Given the description of an element on the screen output the (x, y) to click on. 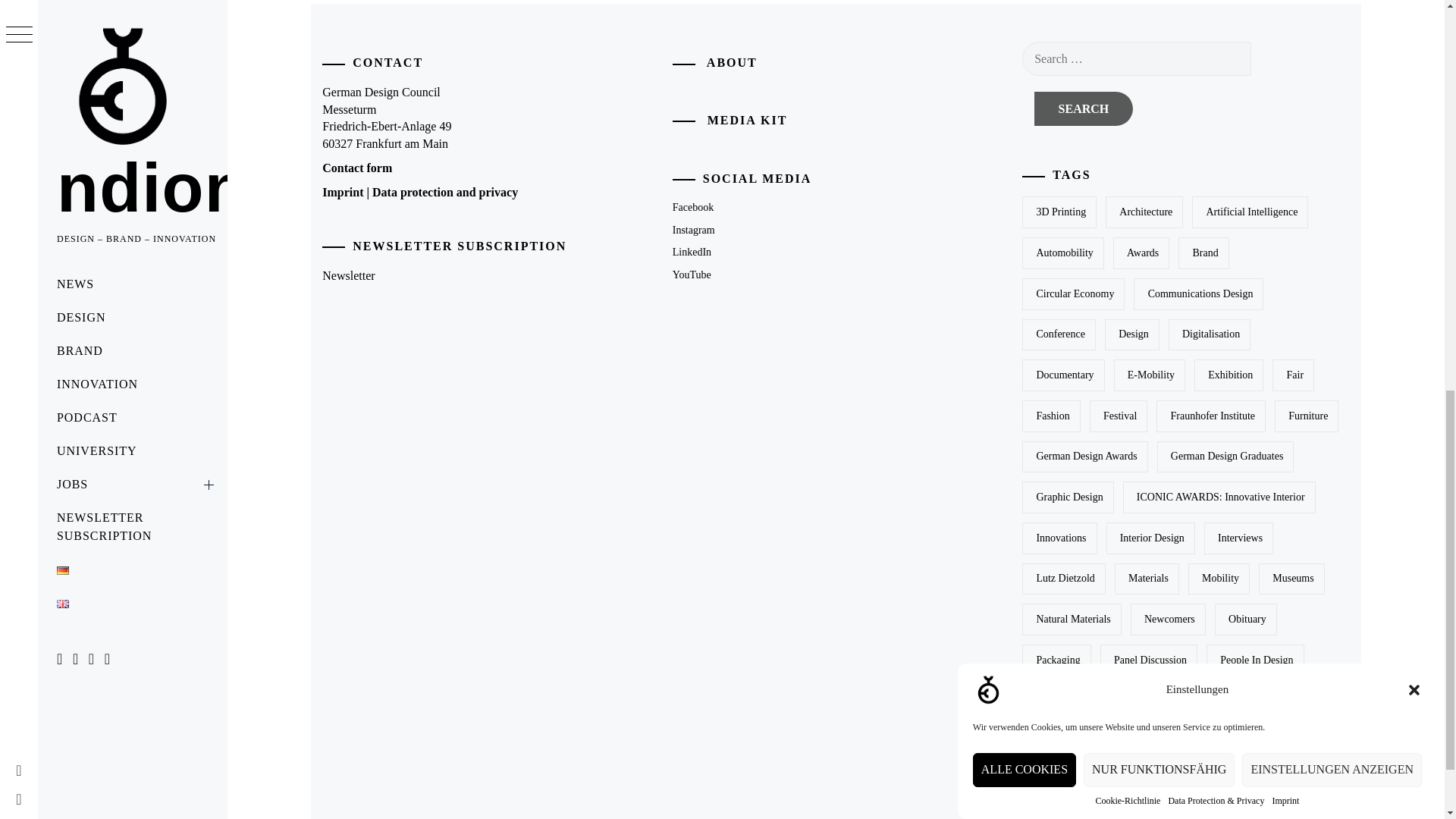
Search (1082, 108)
EINSTELLUNGEN ANZEIGEN (1331, 163)
Imprint (1284, 102)
Cookie-Richtlinie (1127, 132)
ALLE COOKIES (1023, 208)
Data protection and privacy (445, 192)
Contact form (356, 167)
Search (1082, 108)
Imprint (341, 192)
